Given the description of an element on the screen output the (x, y) to click on. 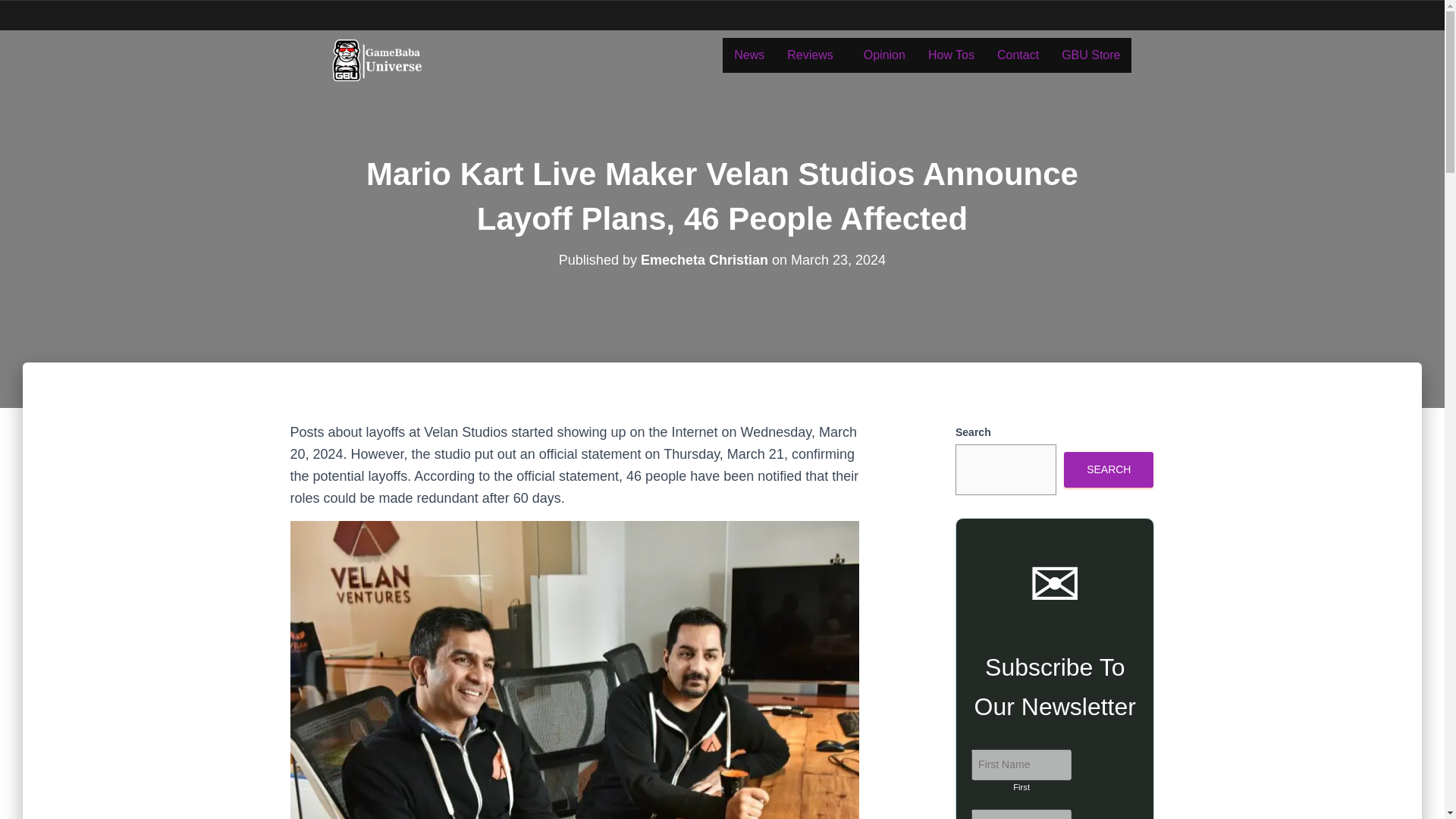
Contact (1017, 54)
How Tos (951, 54)
Emecheta Christian (704, 259)
Reviews (813, 54)
SEARCH (1108, 469)
GBU Store (1090, 54)
Opinion (884, 54)
News (749, 54)
